Given the description of an element on the screen output the (x, y) to click on. 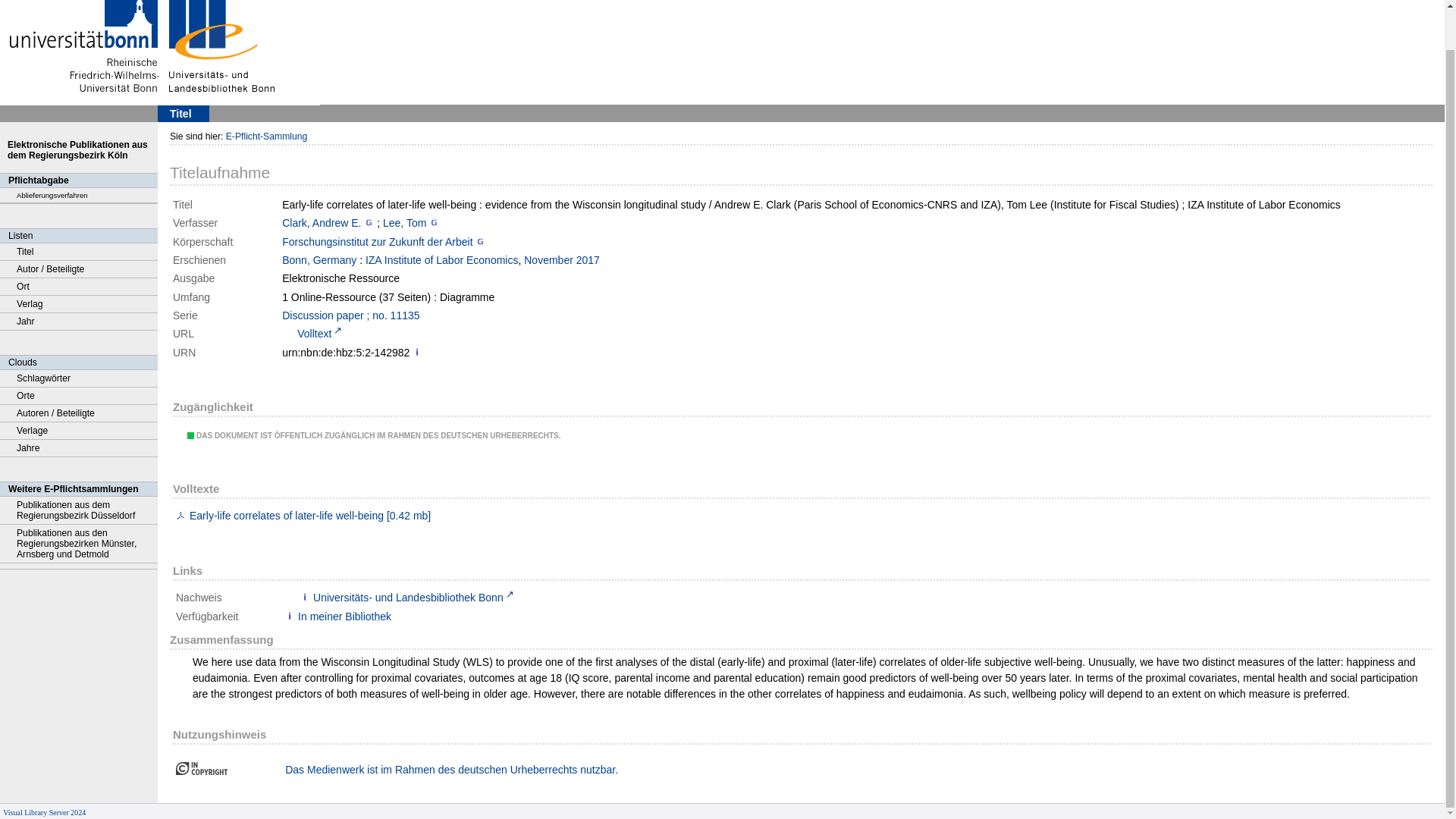
Verlag (78, 303)
Lee, Tom (404, 223)
Discussion paper ; no. 11135 (350, 315)
Titel (78, 252)
Verlage (78, 430)
Volltext (312, 333)
E-Pflicht-Sammlung (266, 136)
Orte (78, 395)
Forschungsinstitut zur Zukunft der Arbeit (376, 241)
November 2017 (561, 259)
